Given the description of an element on the screen output the (x, y) to click on. 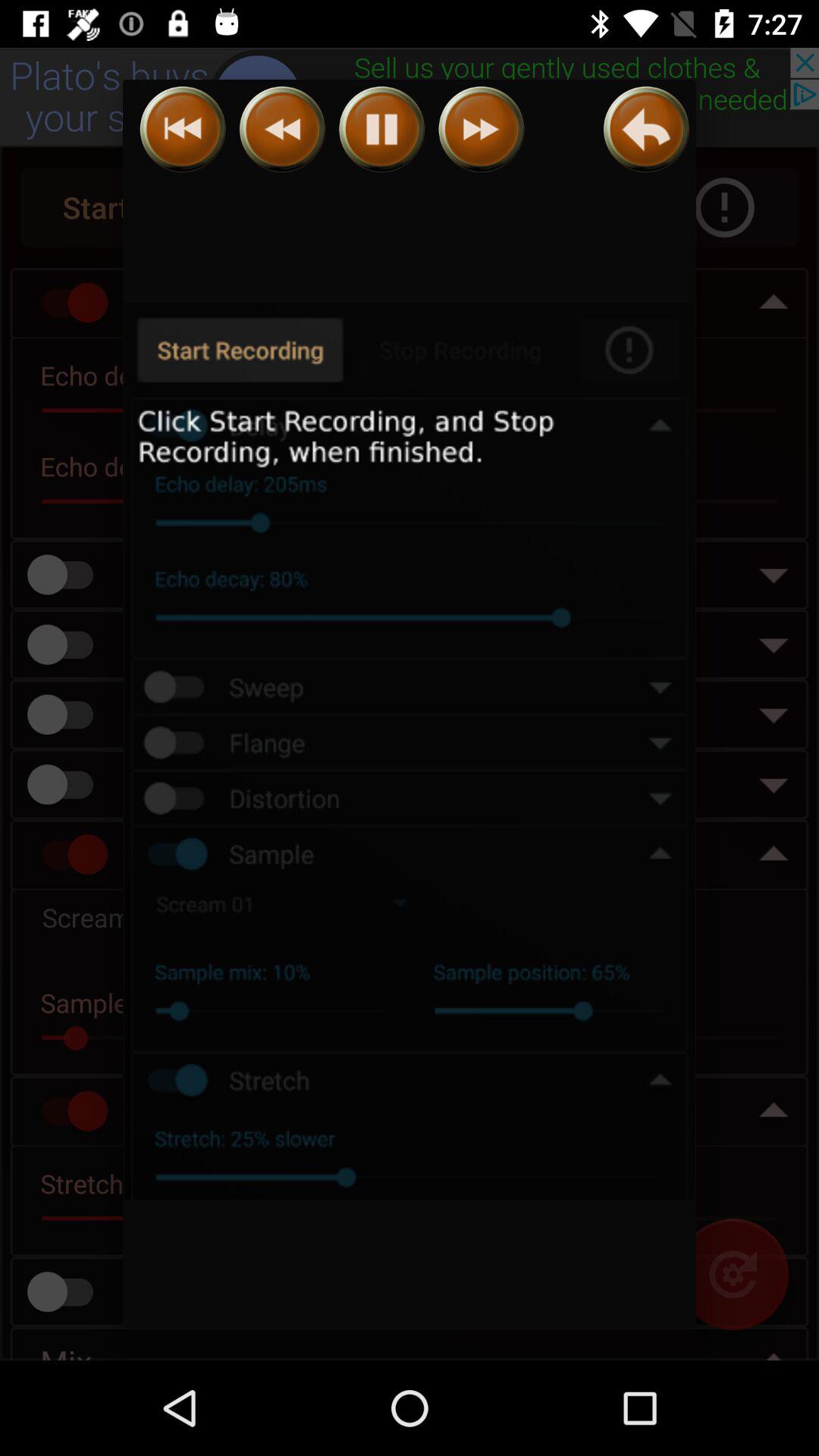
begin recording (409, 751)
